Given the description of an element on the screen output the (x, y) to click on. 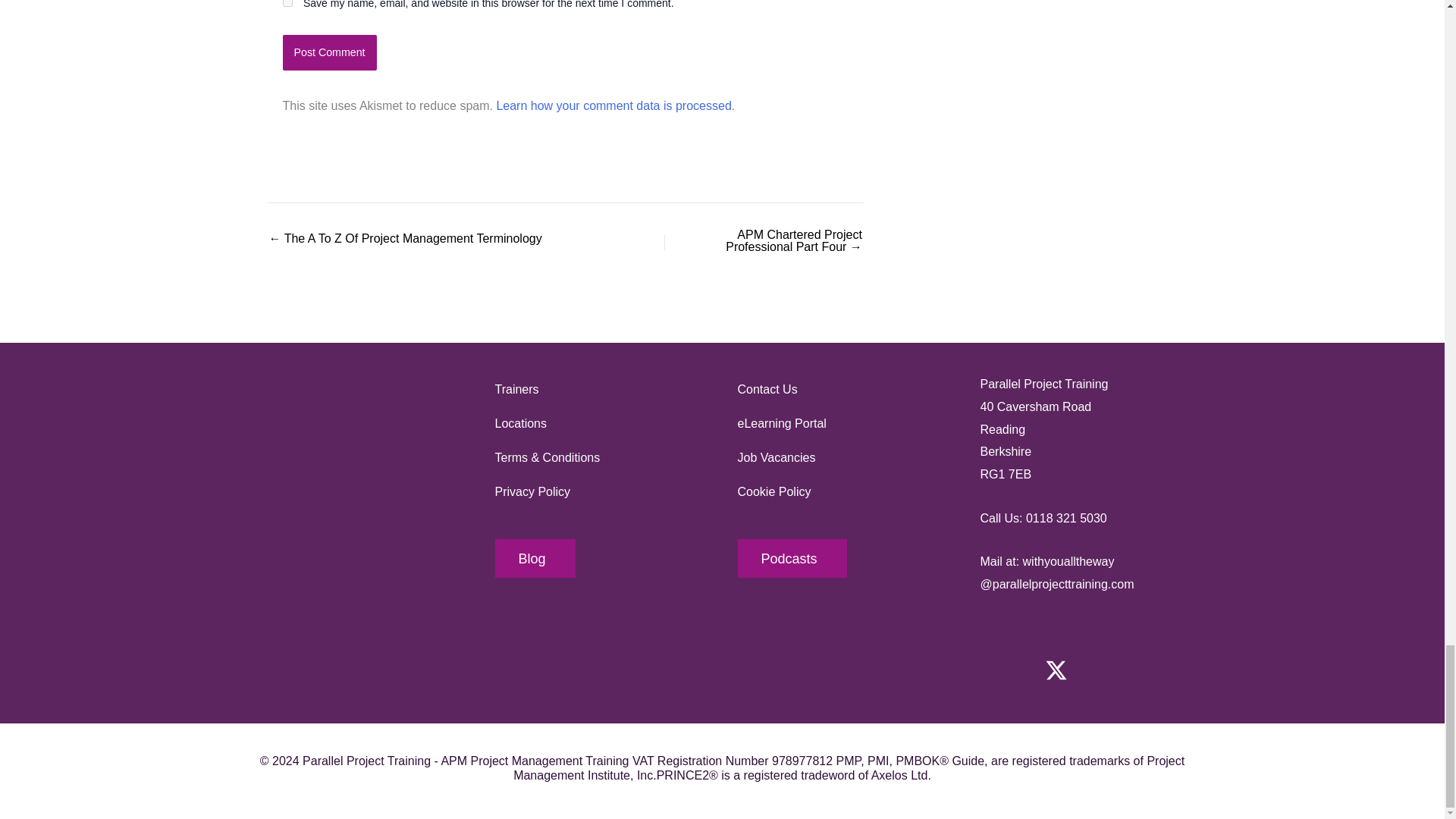
white-geese-logo-min (357, 448)
LinkedIn (1161, 669)
Post Comment (328, 52)
YouTube (1108, 669)
yes (287, 3)
Facebook (1002, 669)
